Given the description of an element on the screen output the (x, y) to click on. 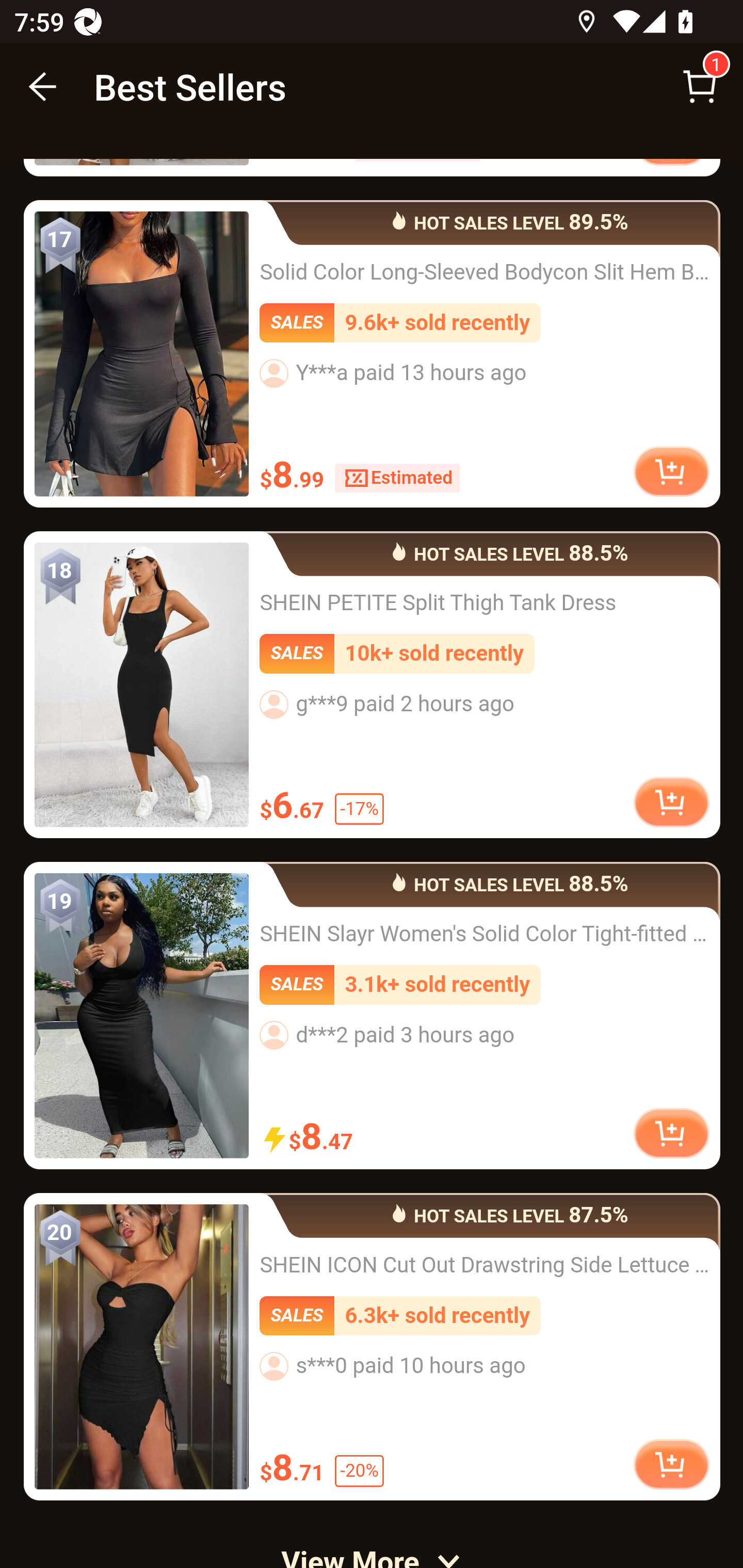
BACK (43, 86)
Cart 1 (699, 86)
add to cart (670, 471)
SHEIN PETITE Split Thigh Tank Dress (141, 686)
add to cart (670, 804)
add to cart (670, 1134)
add to cart (670, 1464)
